Given the description of an element on the screen output the (x, y) to click on. 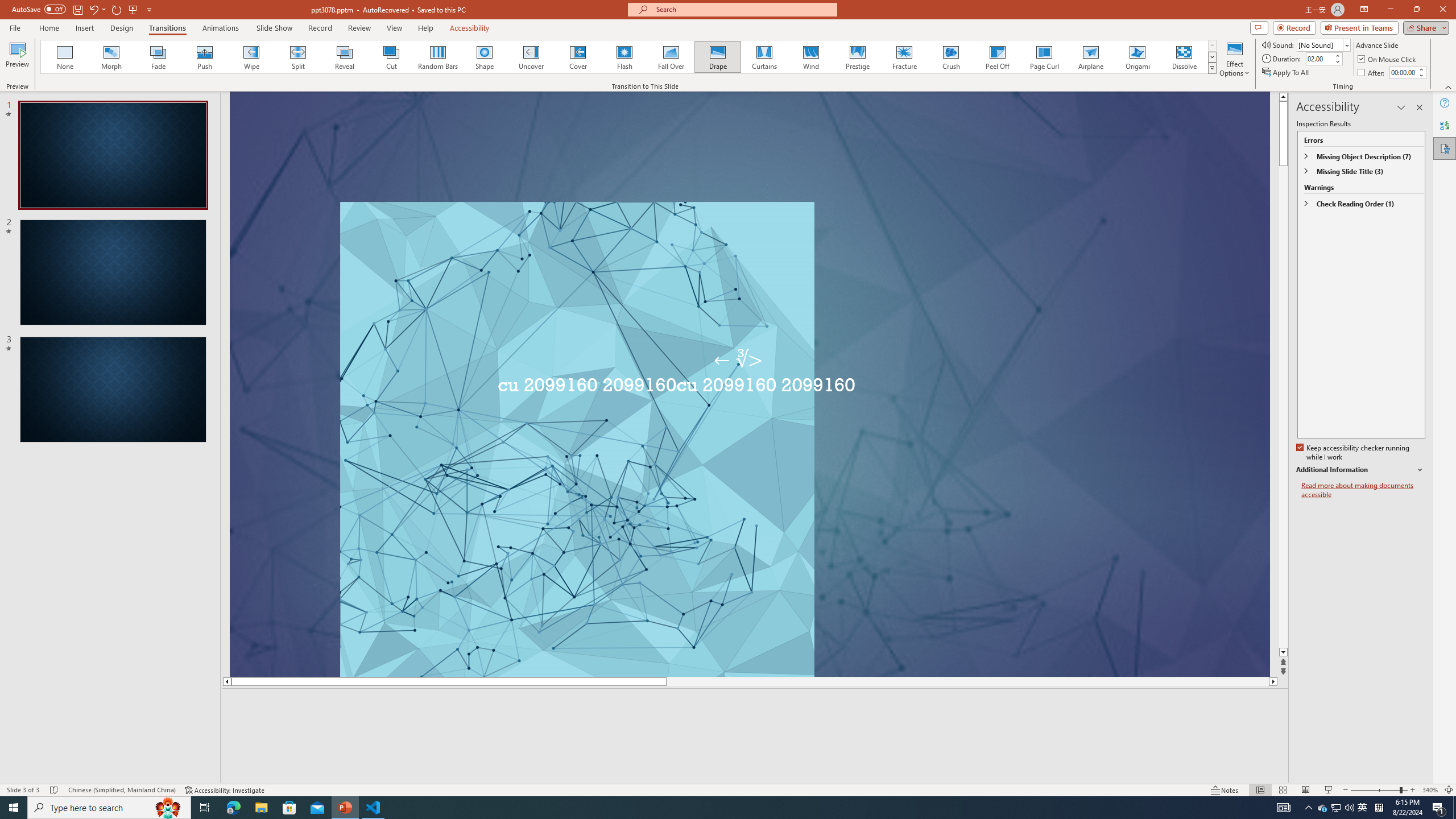
Page Curl (1043, 56)
Push (205, 56)
Cover (577, 56)
Uncover (531, 56)
Reveal (344, 56)
